Given the description of an element on the screen output the (x, y) to click on. 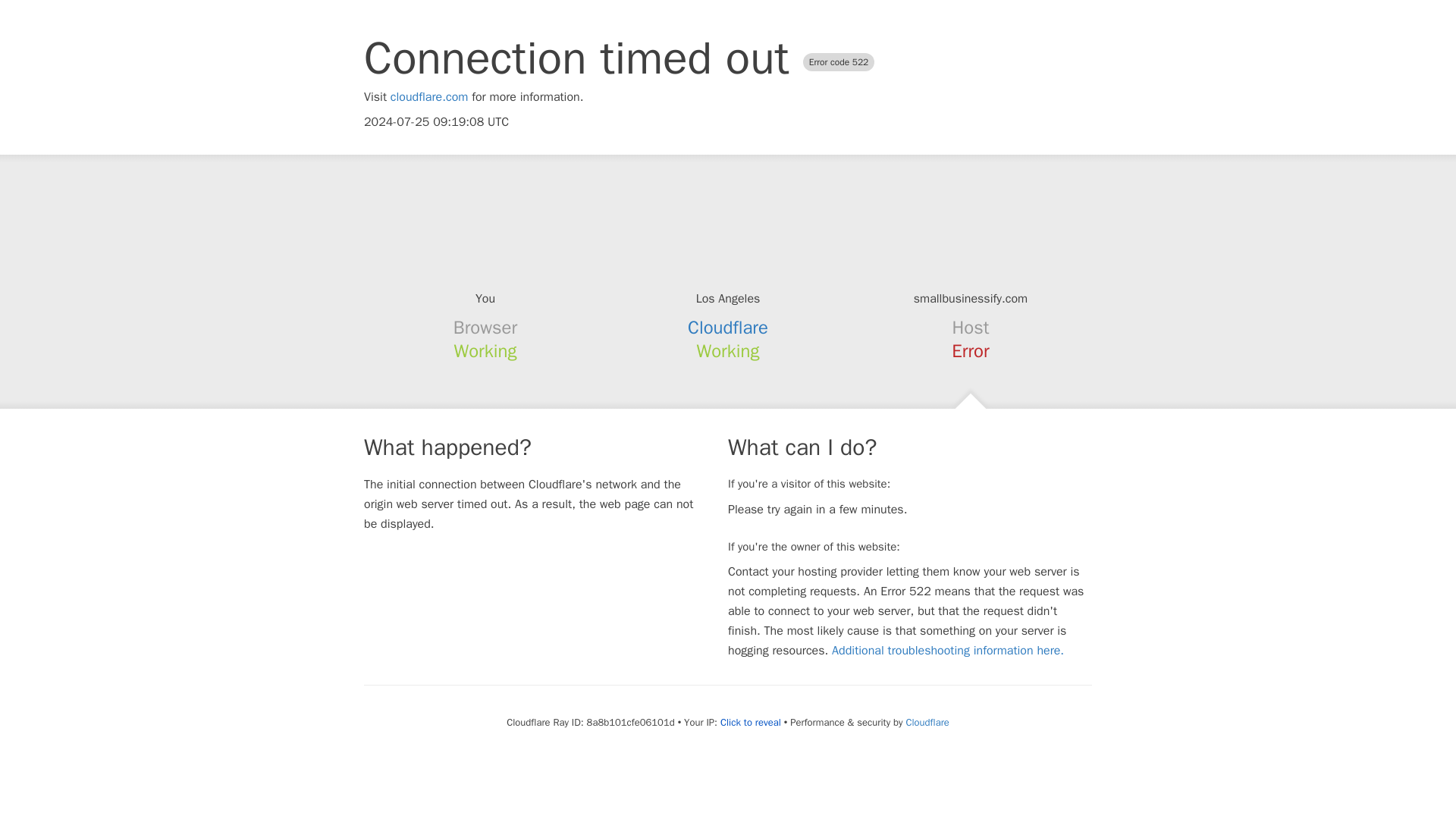
cloudflare.com (429, 96)
Click to reveal (750, 722)
Additional troubleshooting information here. (947, 650)
Cloudflare (727, 327)
Cloudflare (927, 721)
